Given the description of an element on the screen output the (x, y) to click on. 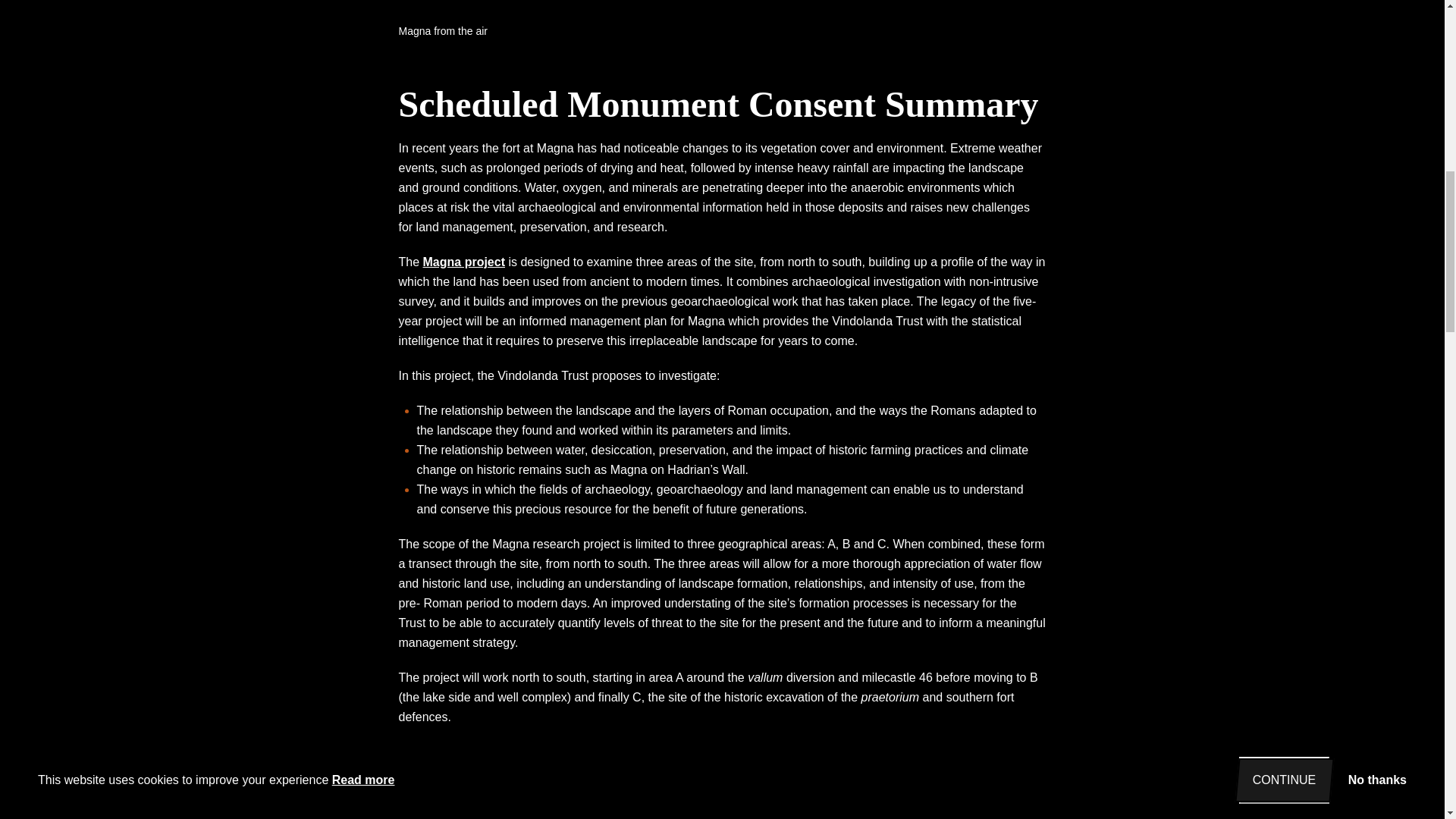
Magna project (464, 261)
